Given the description of an element on the screen output the (x, y) to click on. 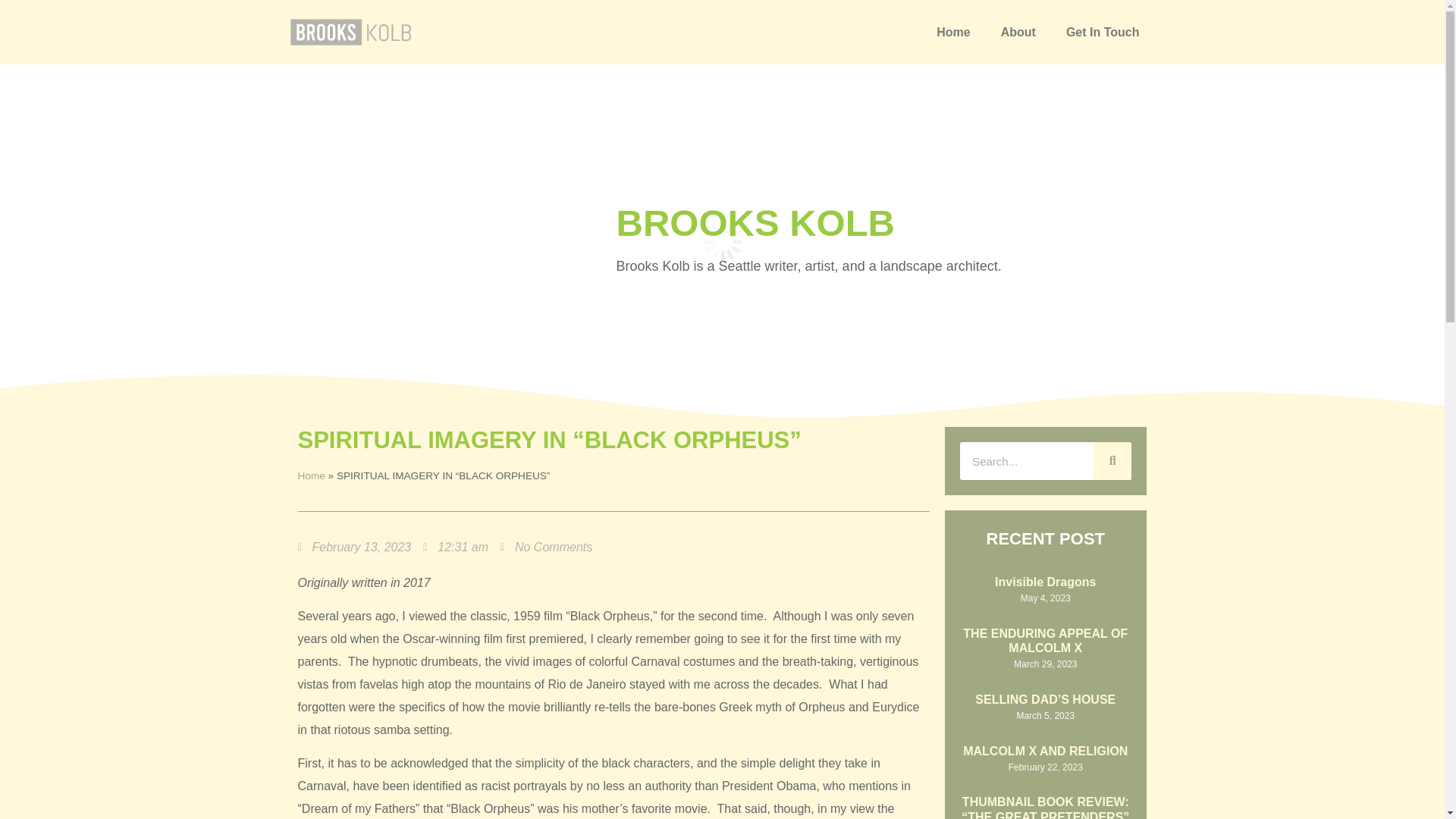
No Comments (546, 547)
Invisible Dragons (1045, 581)
MALCOLM X AND RELIGION (1044, 750)
Home (953, 32)
About (1018, 32)
February 13, 2023 (353, 547)
Get In Touch (1102, 32)
Home (310, 475)
THE ENDURING APPEAL OF MALCOLM X (1044, 640)
Search (1112, 460)
